Given the description of an element on the screen output the (x, y) to click on. 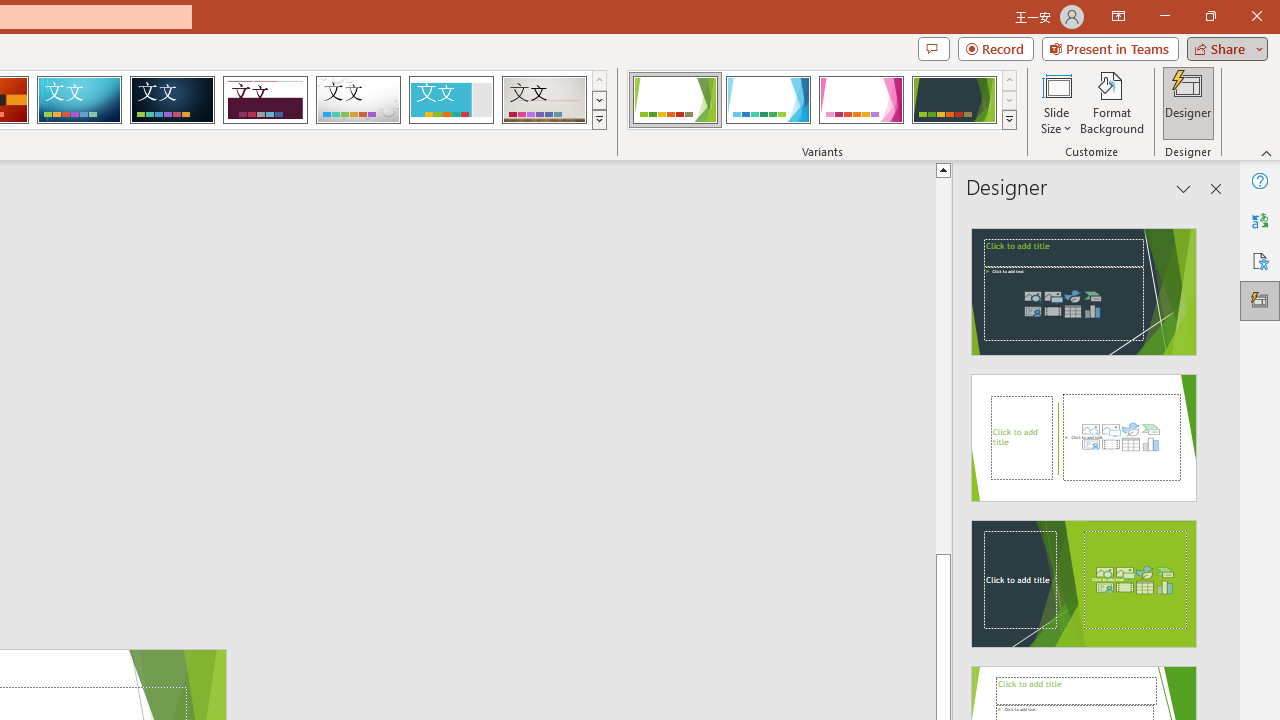
Frame (450, 100)
Variants (1009, 120)
